Given the description of an element on the screen output the (x, y) to click on. 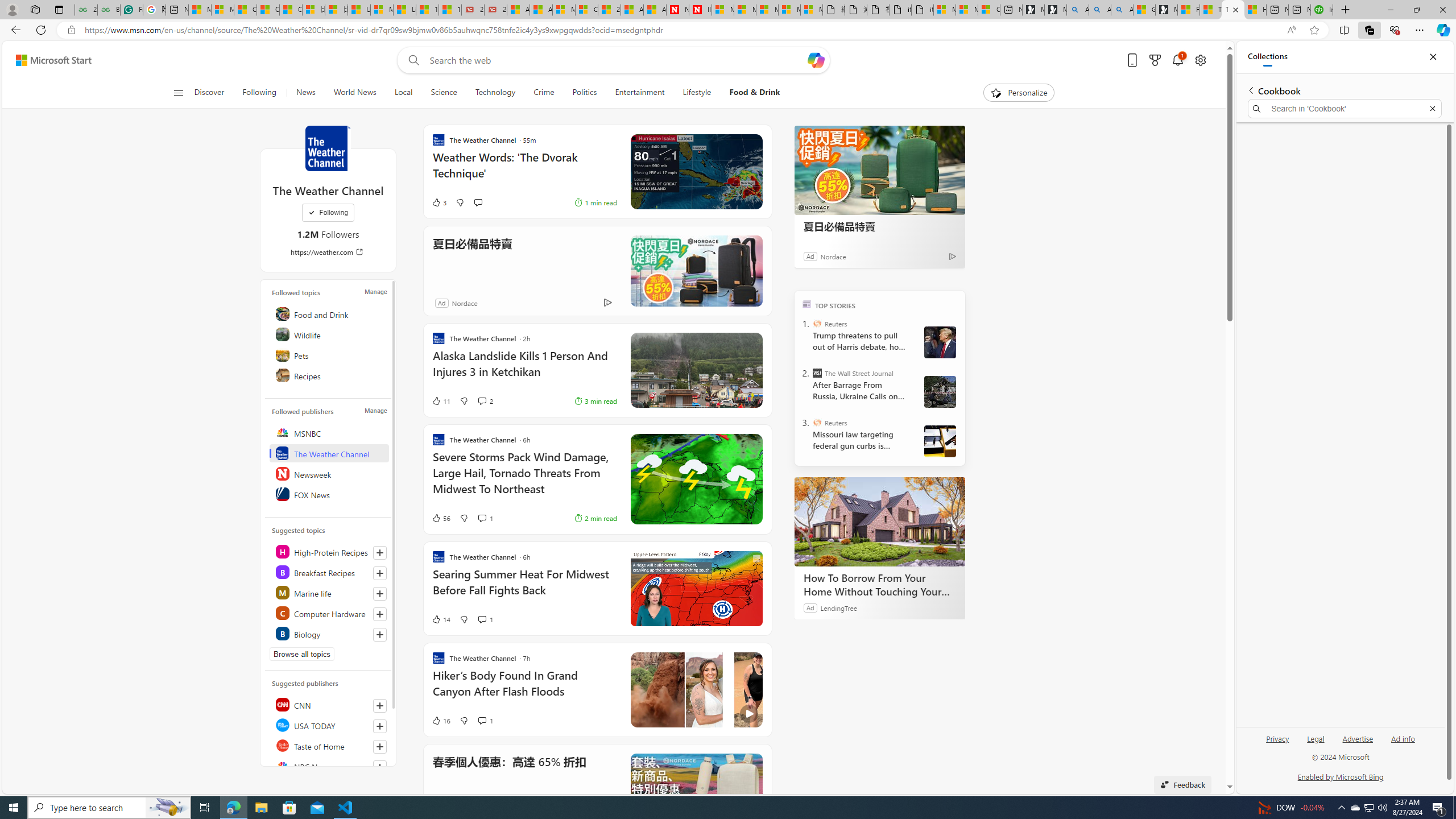
Class: hero-image (696, 689)
Food and Drink - MSN (1188, 9)
TOP (806, 302)
25 Basic Linux Commands For Beginners - GeeksforGeeks (85, 9)
Reuters (816, 422)
How to Use a TV as a Computer Monitor (1255, 9)
Alabama high school quarterback dies - Search Videos (1122, 9)
